Given the description of an element on the screen output the (x, y) to click on. 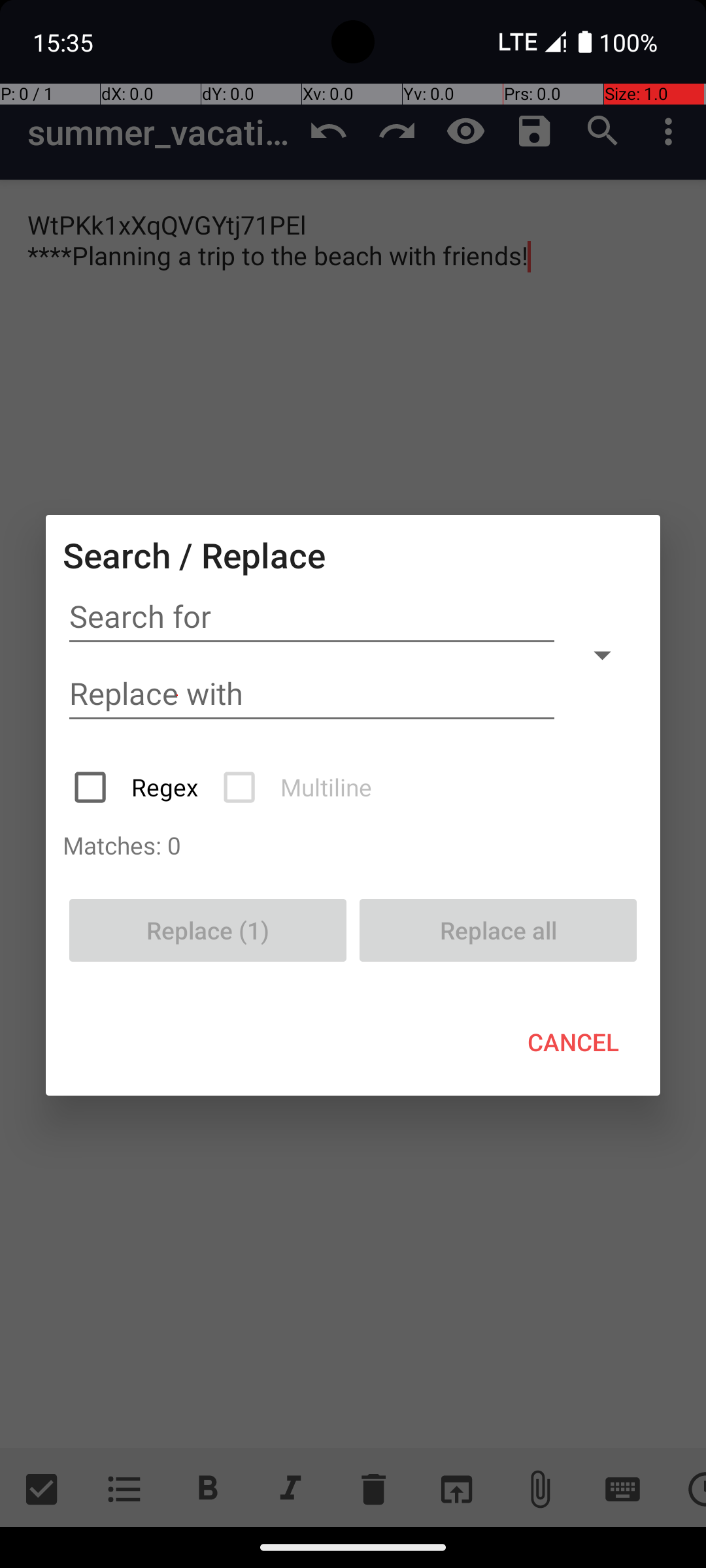
Search / Replace Element type: android.widget.TextView (193, 554)
Search for Element type: android.widget.EditText (311, 616)
Replace with Element type: android.widget.EditText (311, 693)
Regex Element type: android.widget.CheckBox (136, 786)
Multiline Element type: android.widget.CheckBox (298, 786)
Matches: 0 Element type: android.widget.TextView (352, 844)
Replace (1) Element type: android.widget.Button (207, 930)
Replace all Element type: android.widget.Button (498, 930)
